Given the description of an element on the screen output the (x, y) to click on. 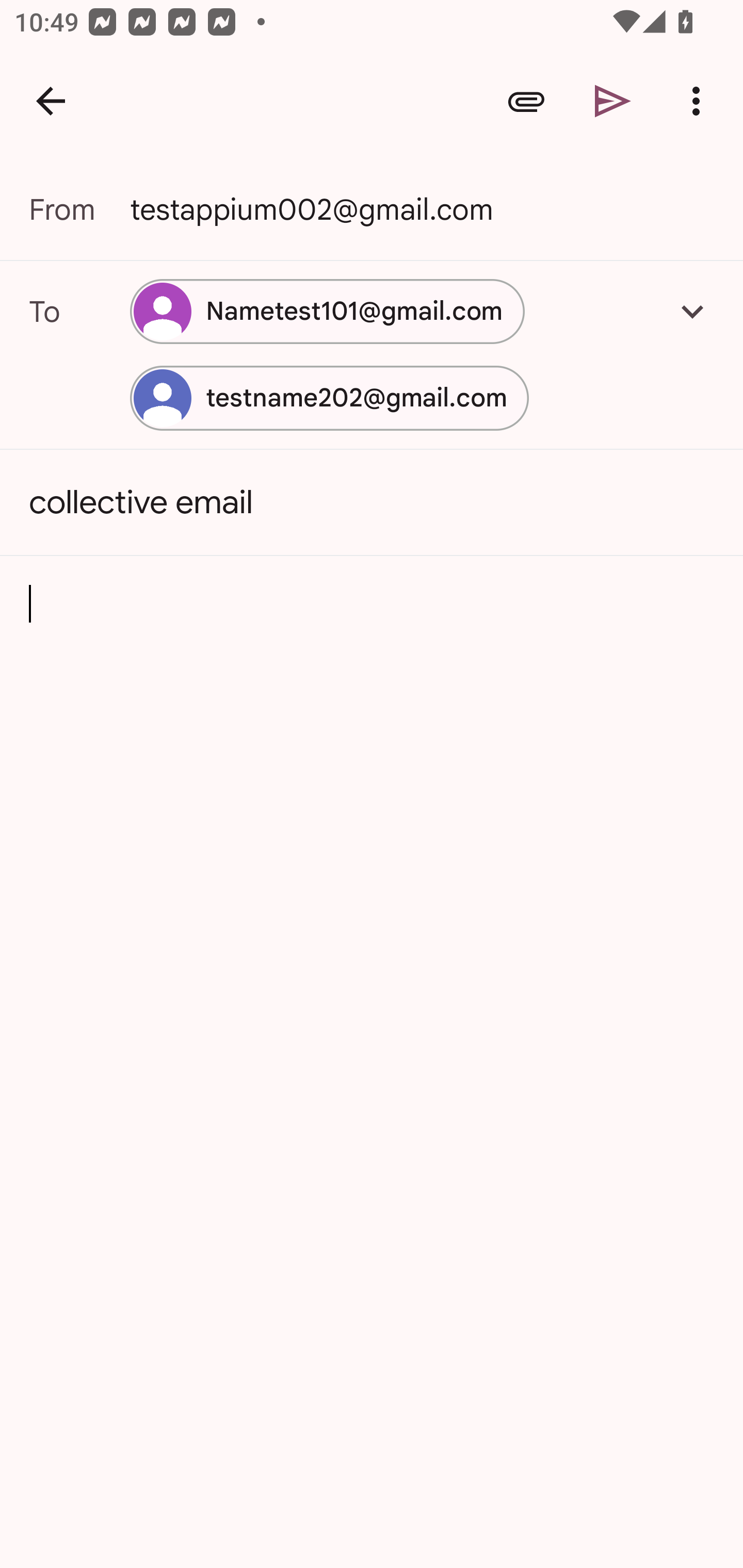
Navigate up (50, 101)
Attach file (525, 101)
Send (612, 101)
More options (699, 101)
From (79, 209)
Add Cc/Bcc (692, 311)
collective email (371, 502)
